Given the description of an element on the screen output the (x, y) to click on. 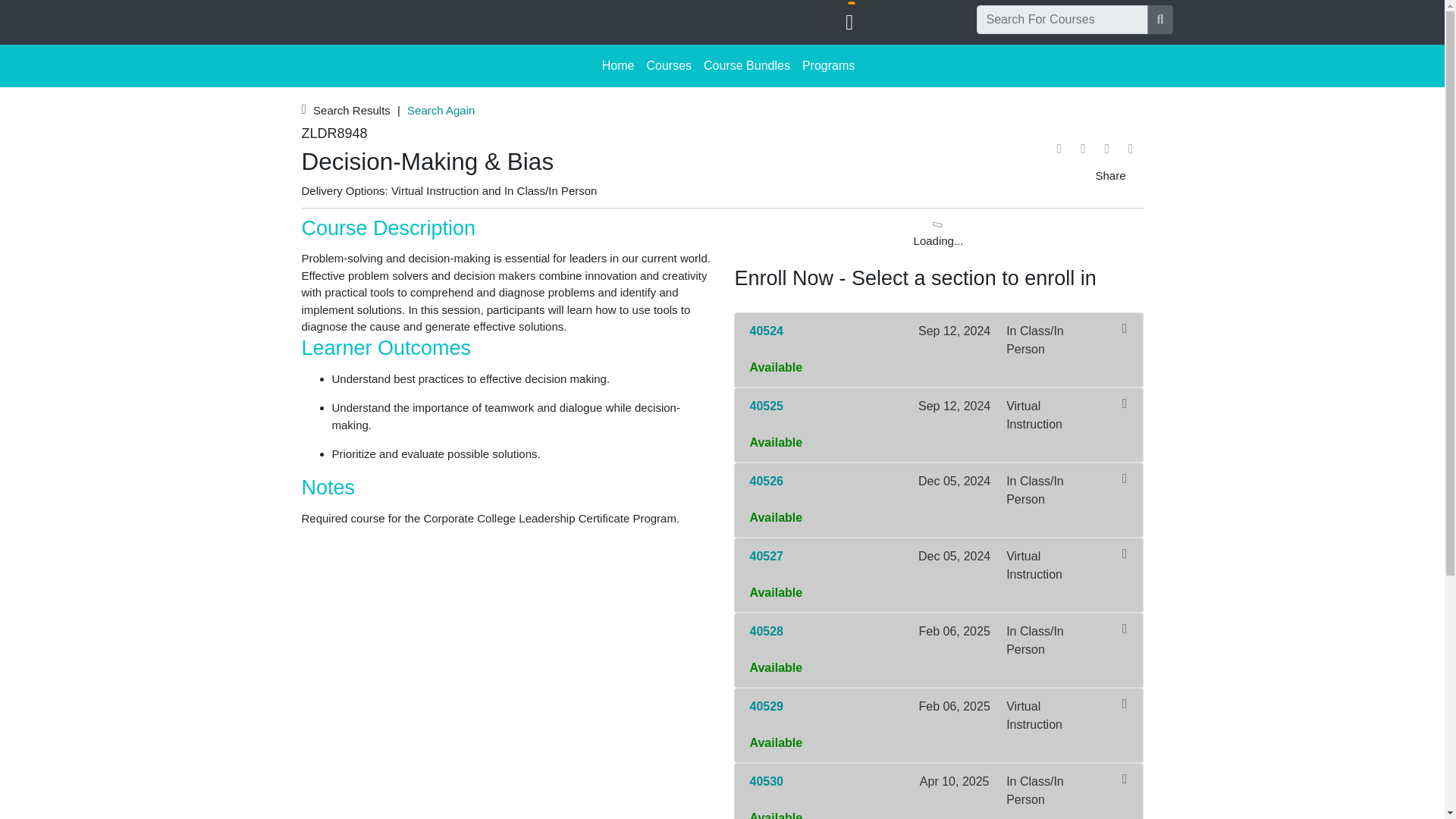
Search Results (352, 109)
Search Again (441, 109)
Courses (668, 65)
Course Bundles (746, 65)
Home (617, 65)
Site Search (1160, 19)
Programs (828, 65)
